Given the description of an element on the screen output the (x, y) to click on. 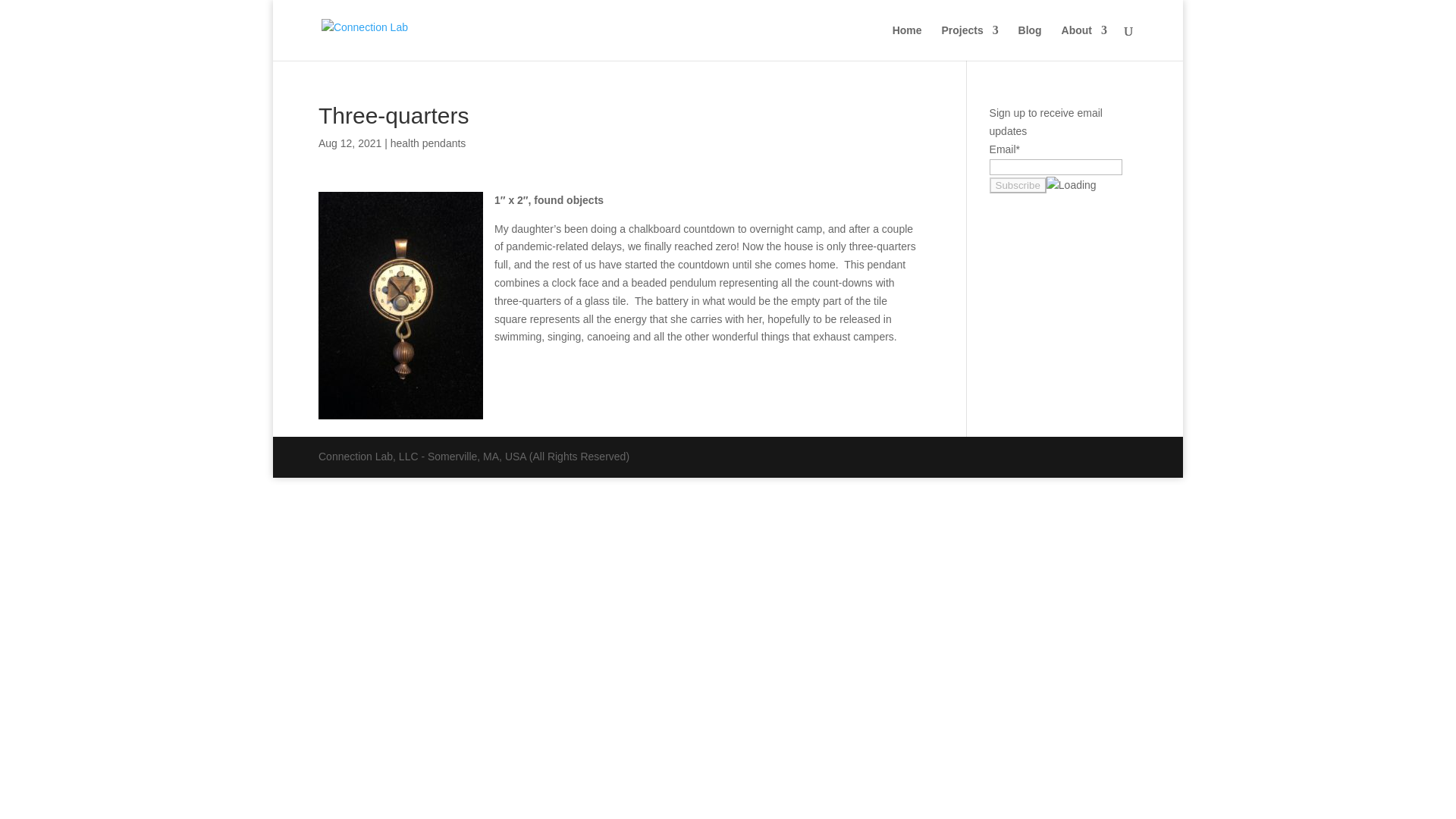
Subscribe (1018, 185)
health pendants (427, 143)
About (1083, 42)
Projects (968, 42)
Subscribe (1018, 185)
